Given the description of an element on the screen output the (x, y) to click on. 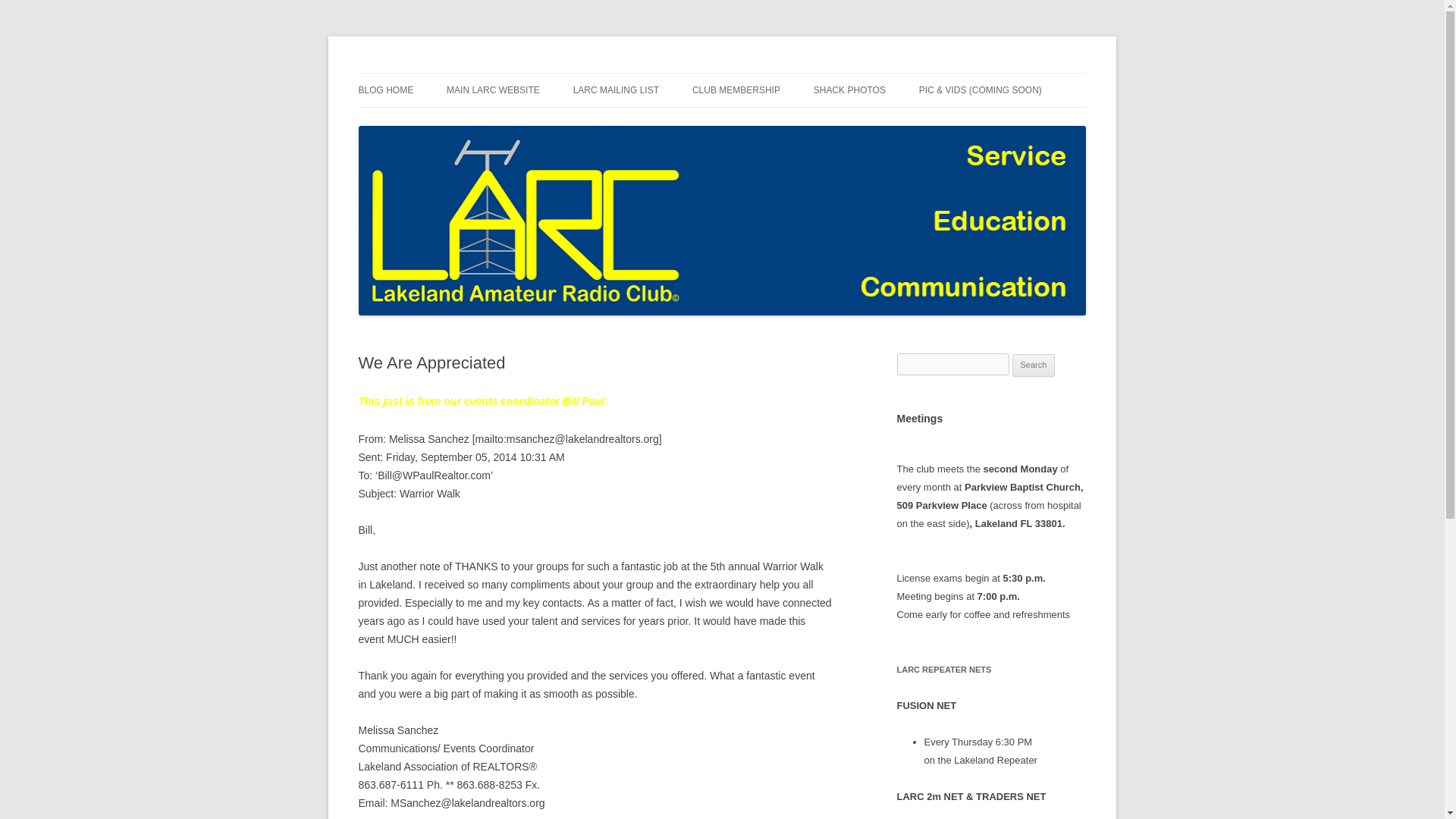
Search (1033, 364)
blog.lakelandarc.org (454, 72)
CLUB MEMBERSHIP (736, 90)
MAIN LARC WEBSITE (493, 90)
LARC MAILING LIST (616, 90)
blog.lakelandarc.org (454, 72)
Search (1033, 364)
SHACK PHOTOS (849, 90)
